Given the description of an element on the screen output the (x, y) to click on. 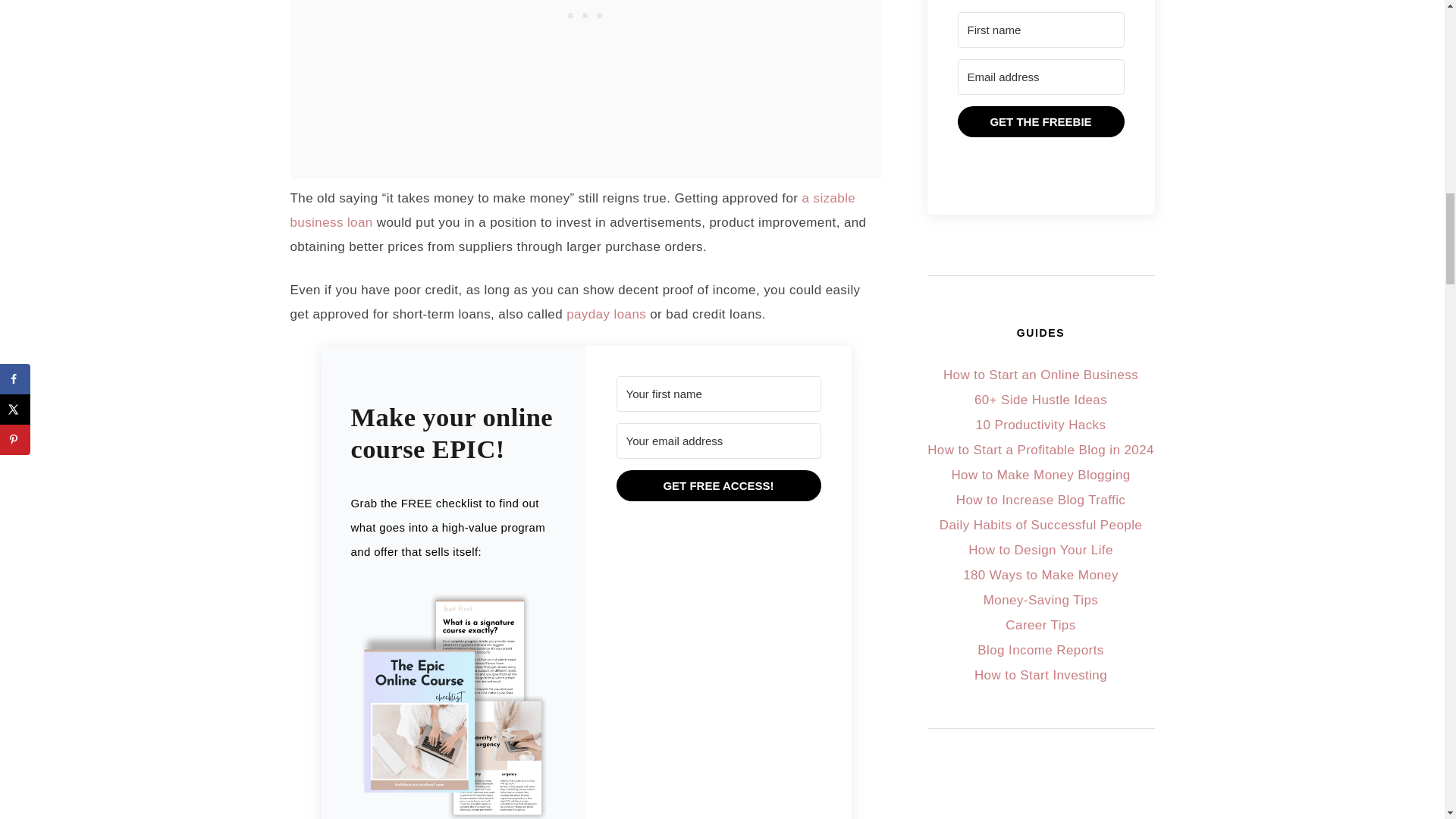
payday loans (606, 314)
GET FREE ACCESS! (718, 485)
a sizable business loan (572, 210)
